Given the description of an element on the screen output the (x, y) to click on. 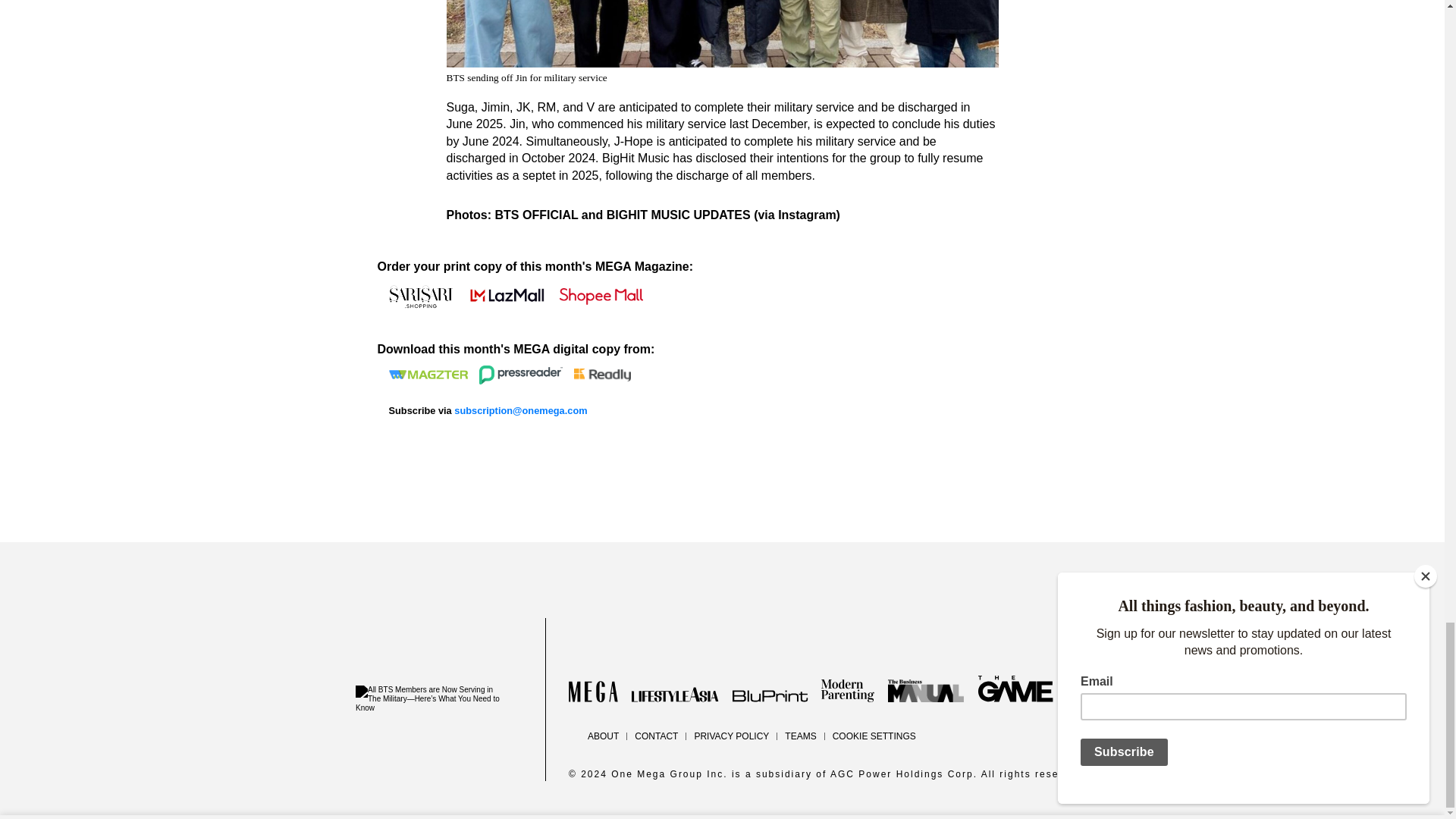
Magzter (427, 374)
Lazada (505, 295)
Subscribe now! (520, 410)
Shopee (601, 296)
Sari Sari Shopping (420, 296)
Readly (601, 374)
Press Reader (520, 374)
